Given the description of an element on the screen output the (x, y) to click on. 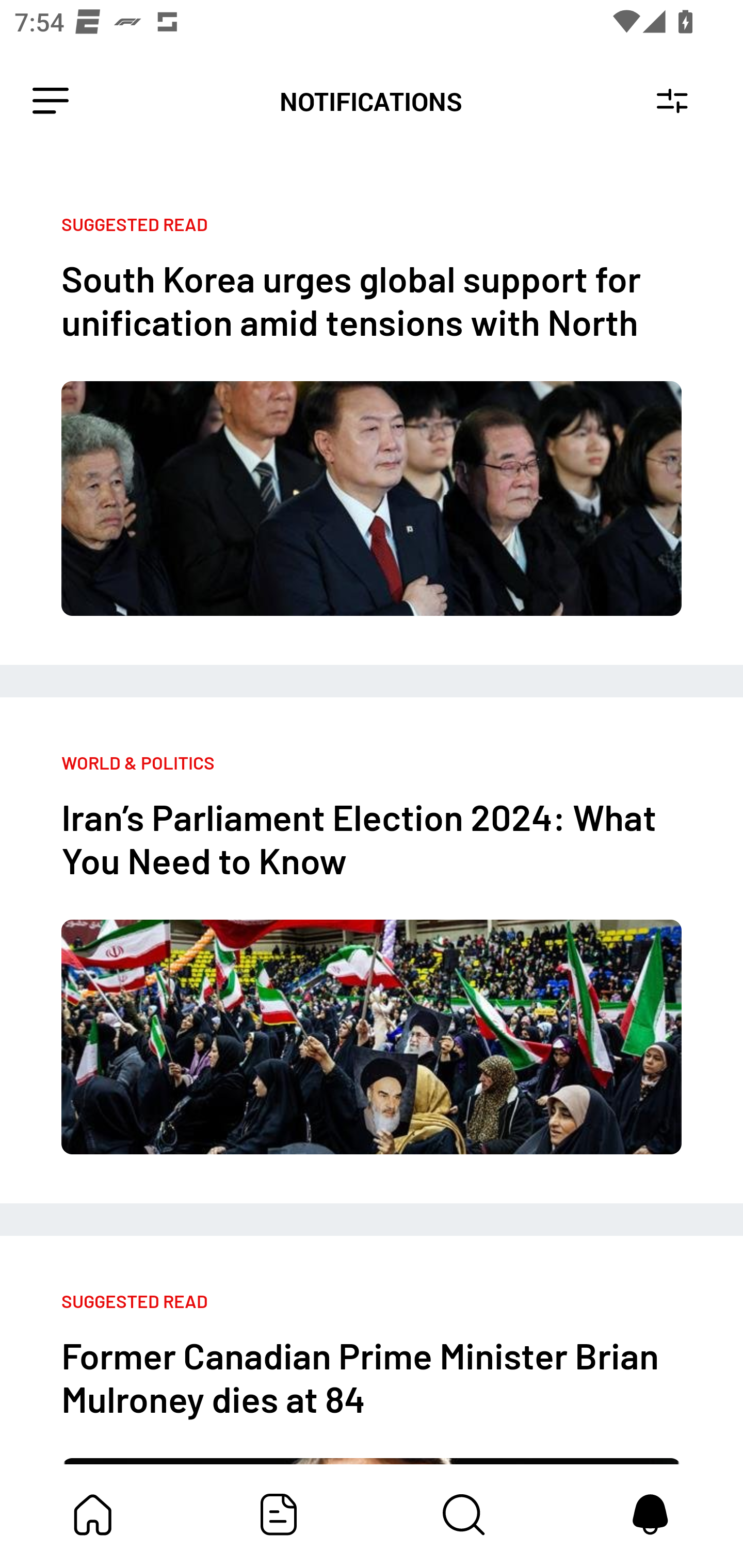
Leading Icon (50, 101)
Notification Settings (672, 101)
My Bundle (92, 1514)
Featured (278, 1514)
Content Store (464, 1514)
